Given the description of an element on the screen output the (x, y) to click on. 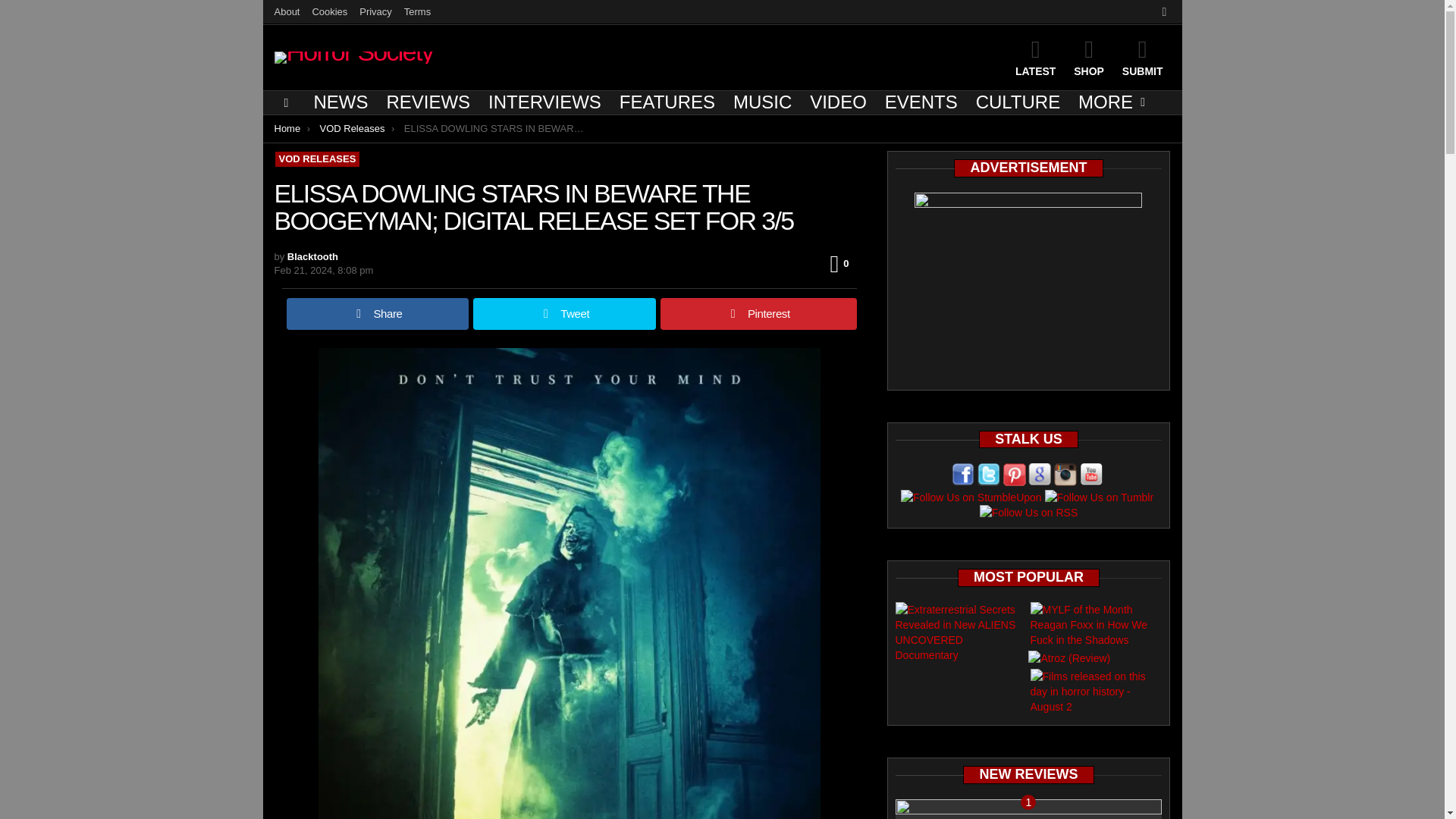
SHOP (1088, 56)
Home (288, 128)
About (287, 12)
Follow Us on YouTube (1091, 474)
MORE (1107, 101)
Terms (417, 12)
Cookies (329, 12)
Menu (286, 103)
INTERVIEWS (544, 101)
Posts by Blacktooth (311, 256)
EVENTS (921, 101)
Follow Us on Instagram (1065, 474)
NEWS (340, 101)
MUSIC (762, 101)
Follow Us on Twitter (988, 474)
